Given the description of an element on the screen output the (x, y) to click on. 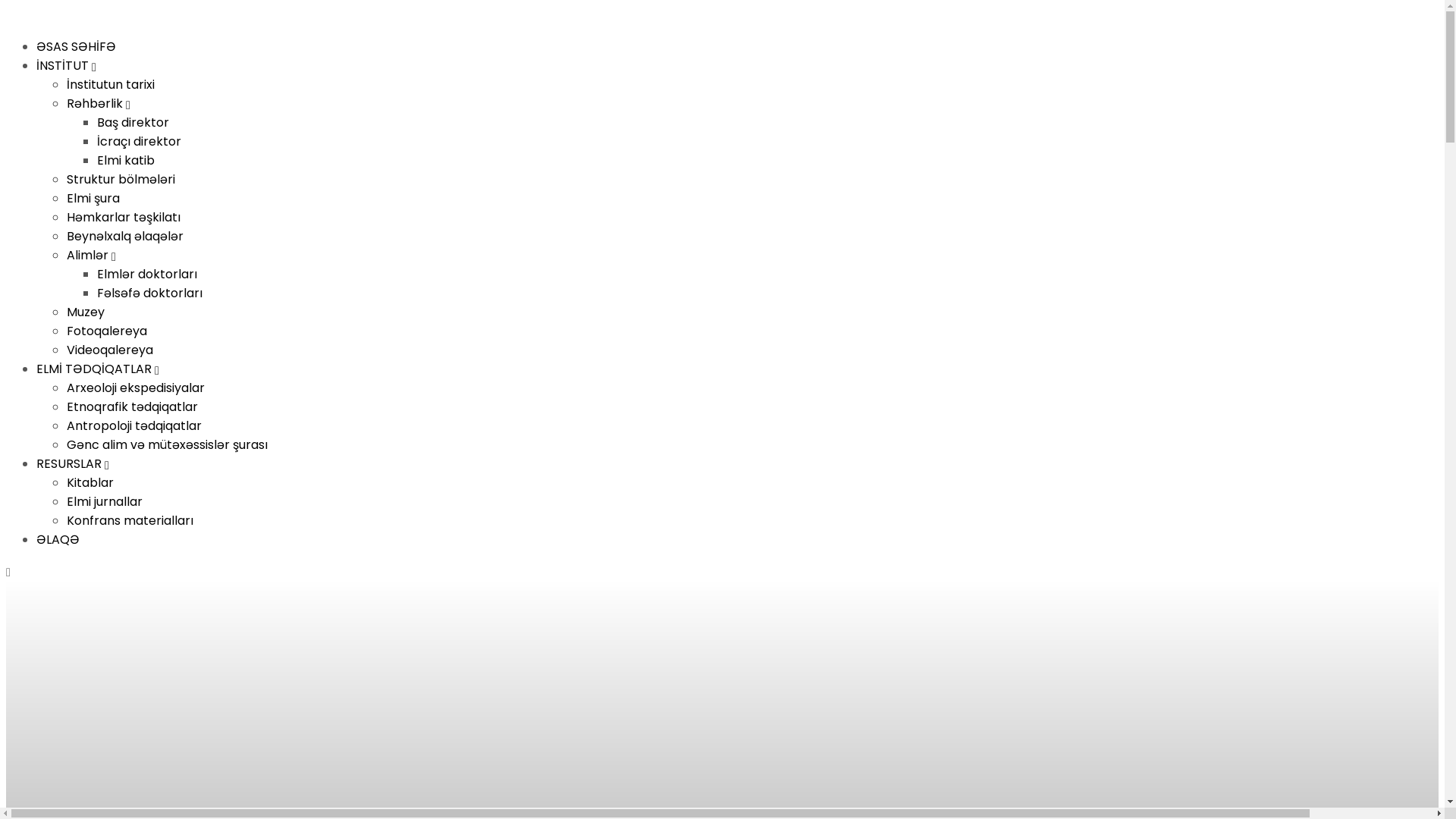
Arxeoloji ekspedisiyalar Element type: text (135, 387)
RESURSLAR Element type: text (72, 463)
Elmi jurnallar Element type: text (104, 501)
Videoqalereya Element type: text (109, 349)
Fotoqalereya Element type: text (106, 330)
Kitablar Element type: text (89, 482)
Muzey Element type: text (85, 311)
Elmi katib Element type: text (125, 160)
